Given the description of an element on the screen output the (x, y) to click on. 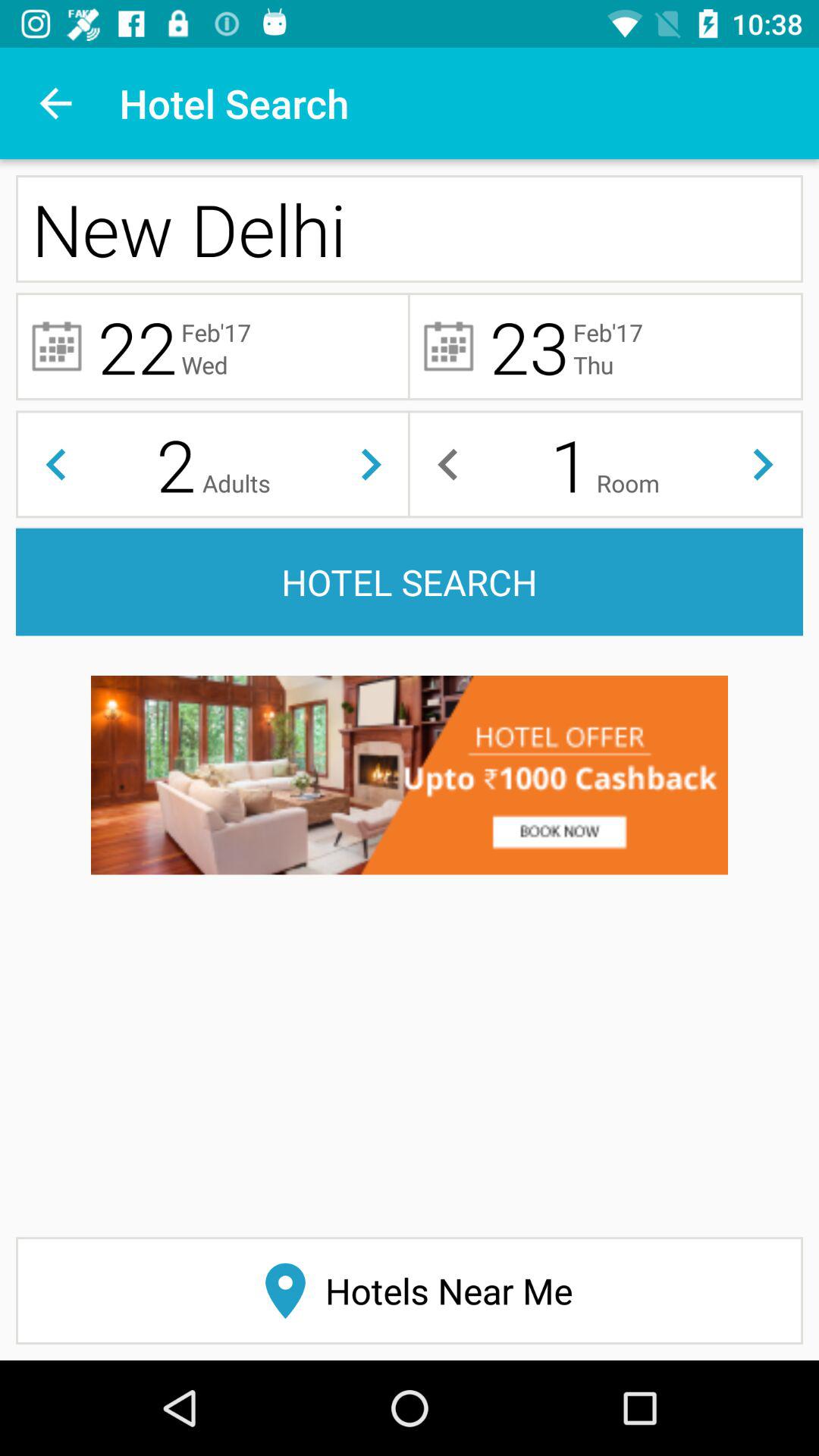
toggle to next number (763, 464)
